Given the description of an element on the screen output the (x, y) to click on. 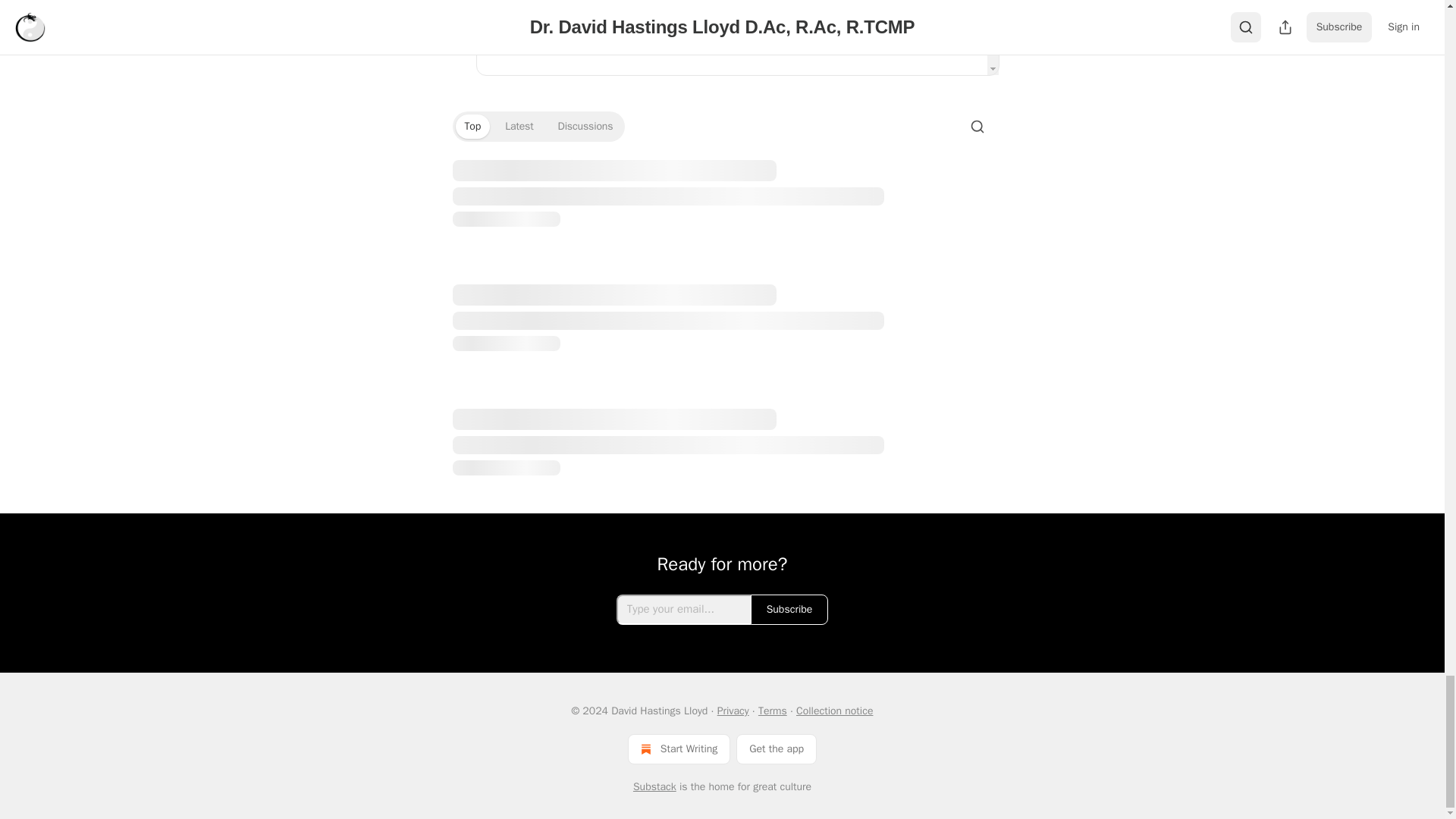
Latest (518, 126)
Top (471, 126)
